Given the description of an element on the screen output the (x, y) to click on. 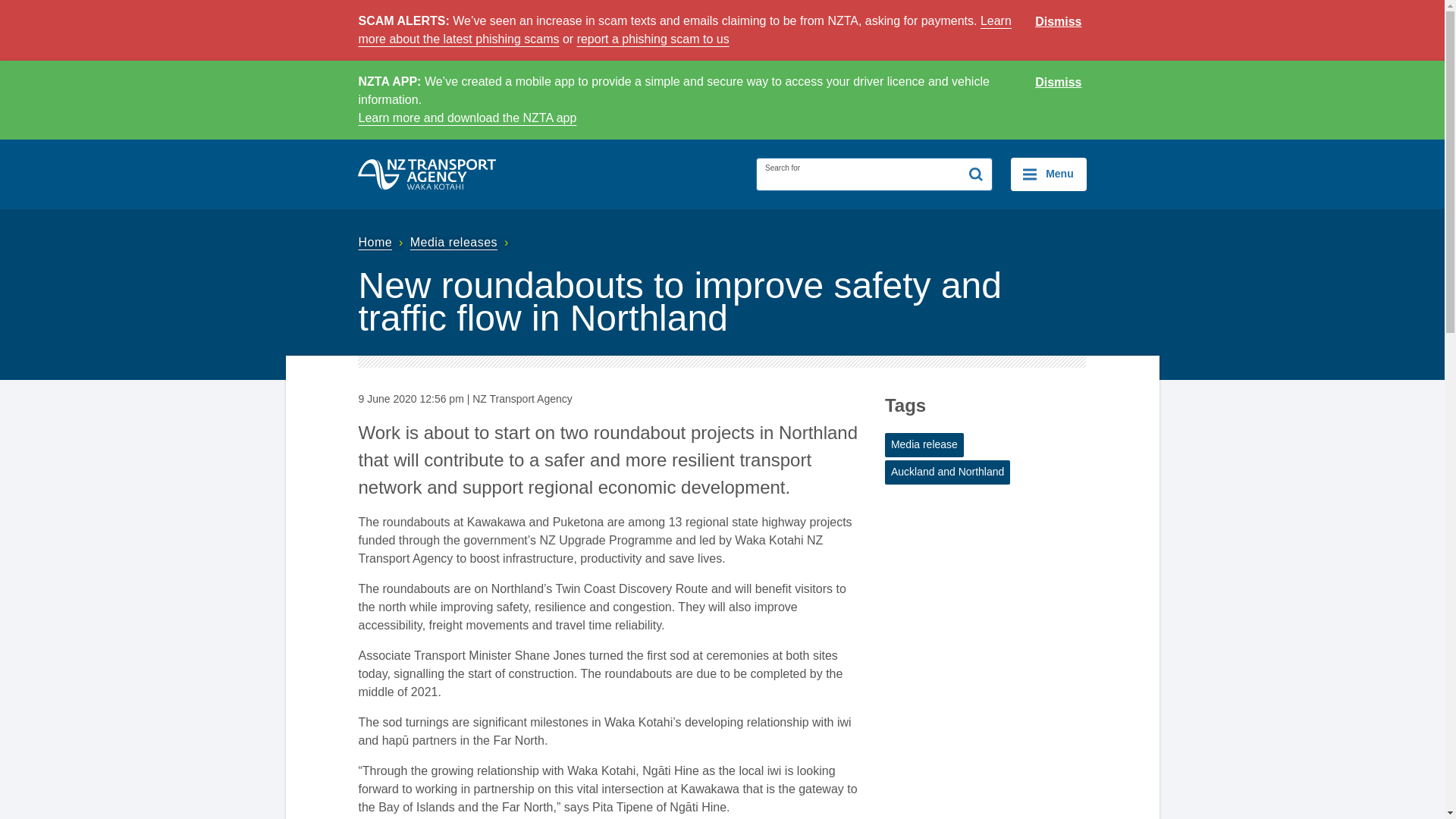
View all posts tagged 'Auckland and Northland' (947, 472)
Dismiss (1058, 21)
Learn more and download the NZTA app (467, 117)
Menu (1048, 174)
report a phishing scam to us (652, 38)
NZ Transport Agency Waka Kotahi (427, 173)
Home (382, 241)
Learn more about the latest phishing scams (684, 29)
View all posts tagged 'Media release' (924, 445)
Dismiss (1058, 82)
